Given the description of an element on the screen output the (x, y) to click on. 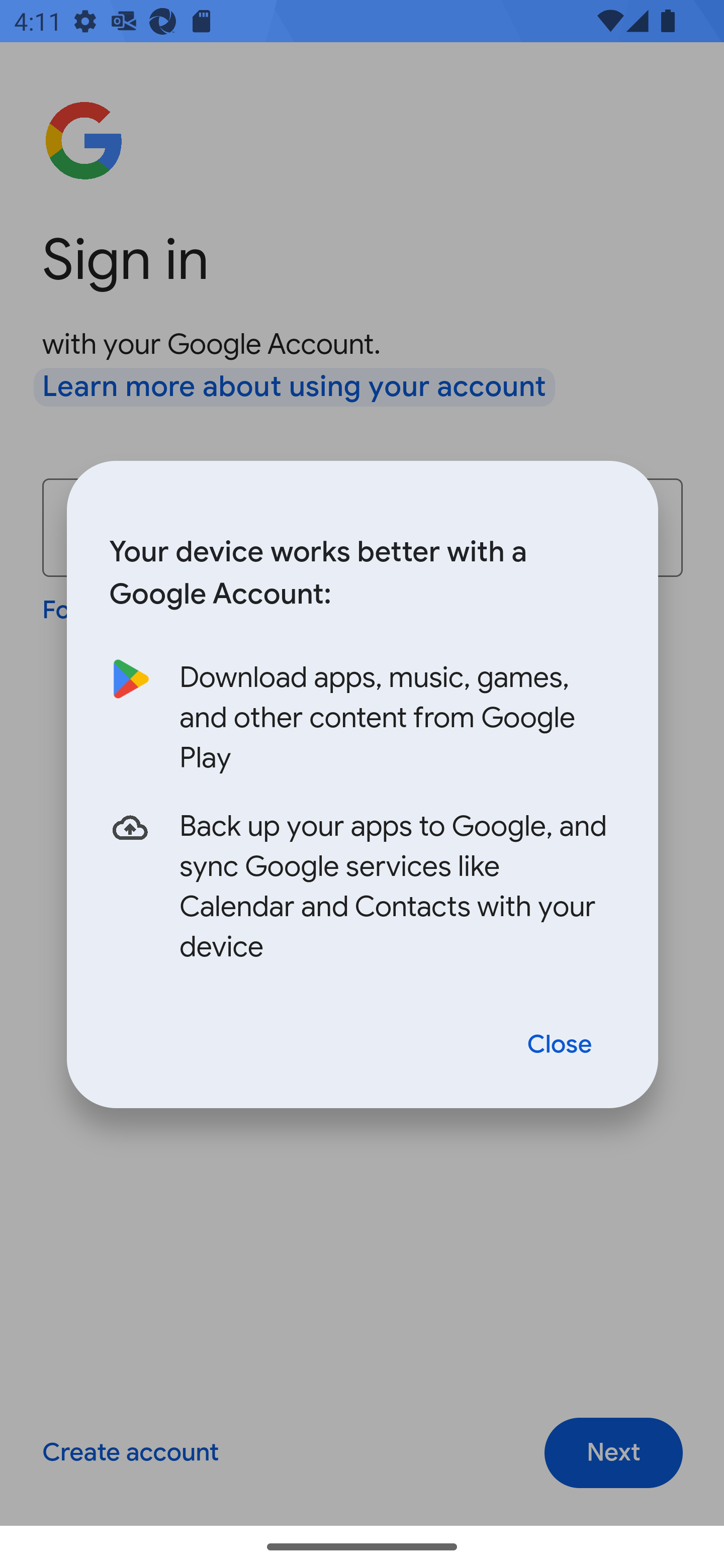
Close (560, 1044)
